Given the description of an element on the screen output the (x, y) to click on. 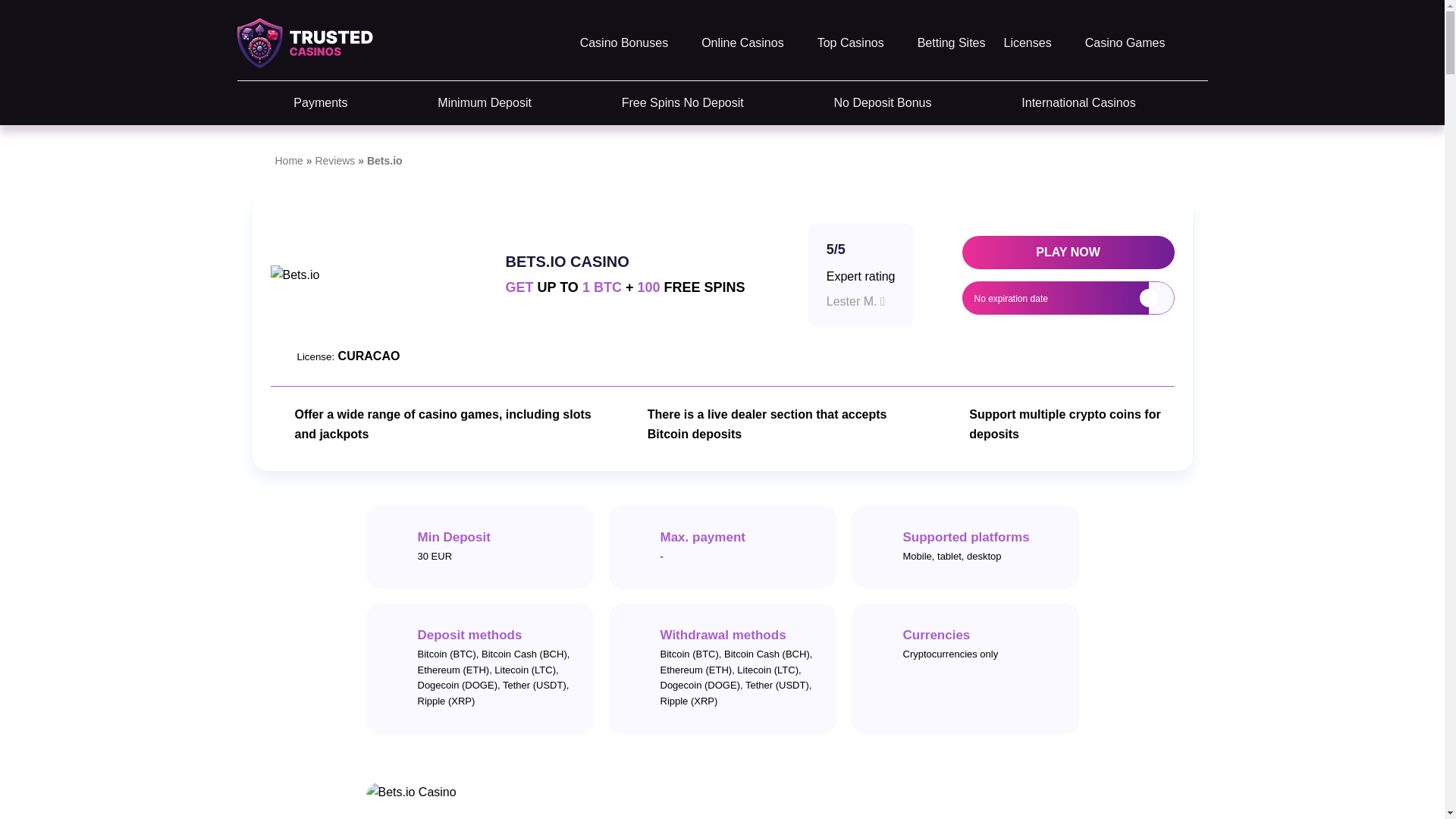
Online Casinos (750, 42)
Casino Bonuses (631, 42)
Top Casinos (857, 42)
